Given the description of an element on the screen output the (x, y) to click on. 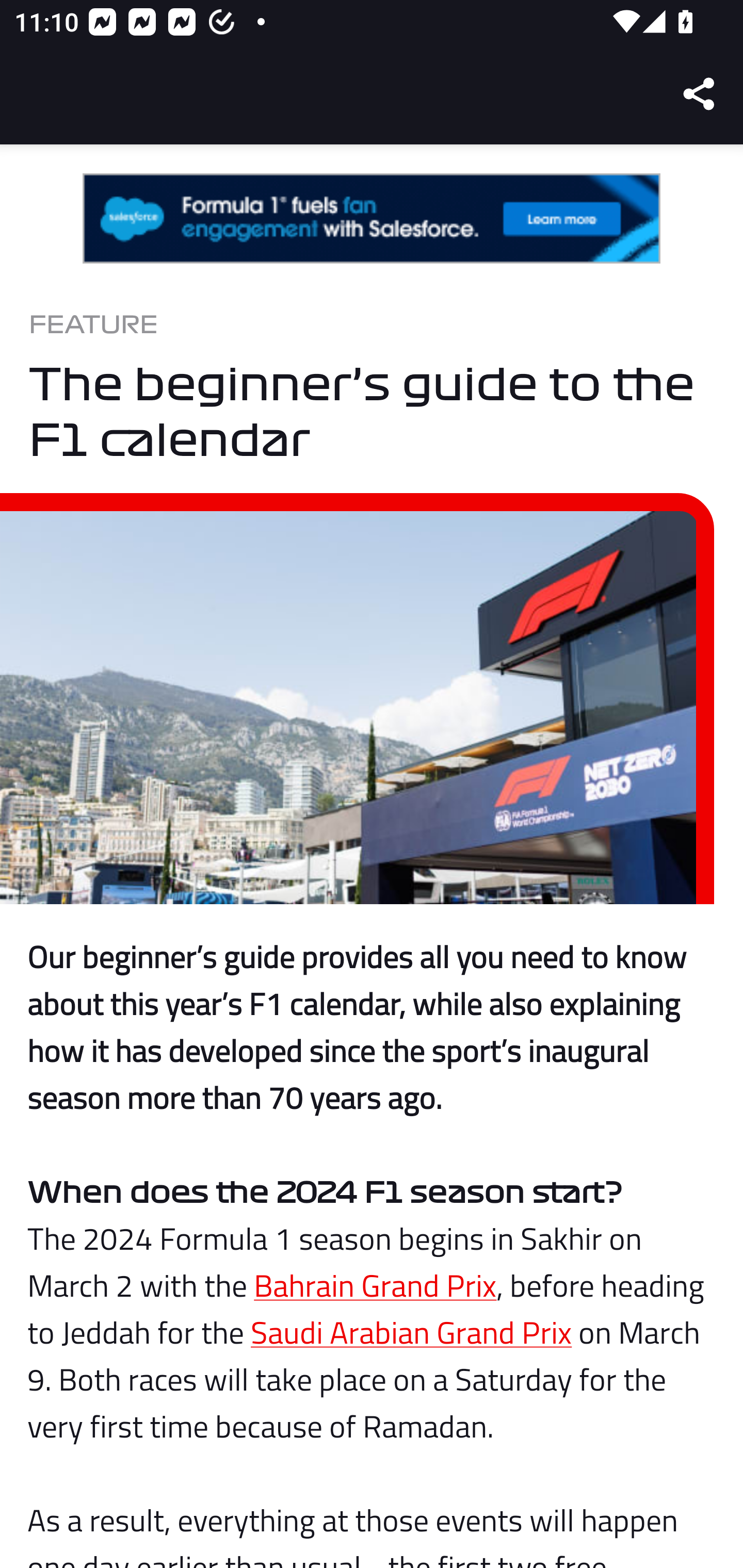
Share (699, 93)
Advertisement (371, 218)
